Given the description of an element on the screen output the (x, y) to click on. 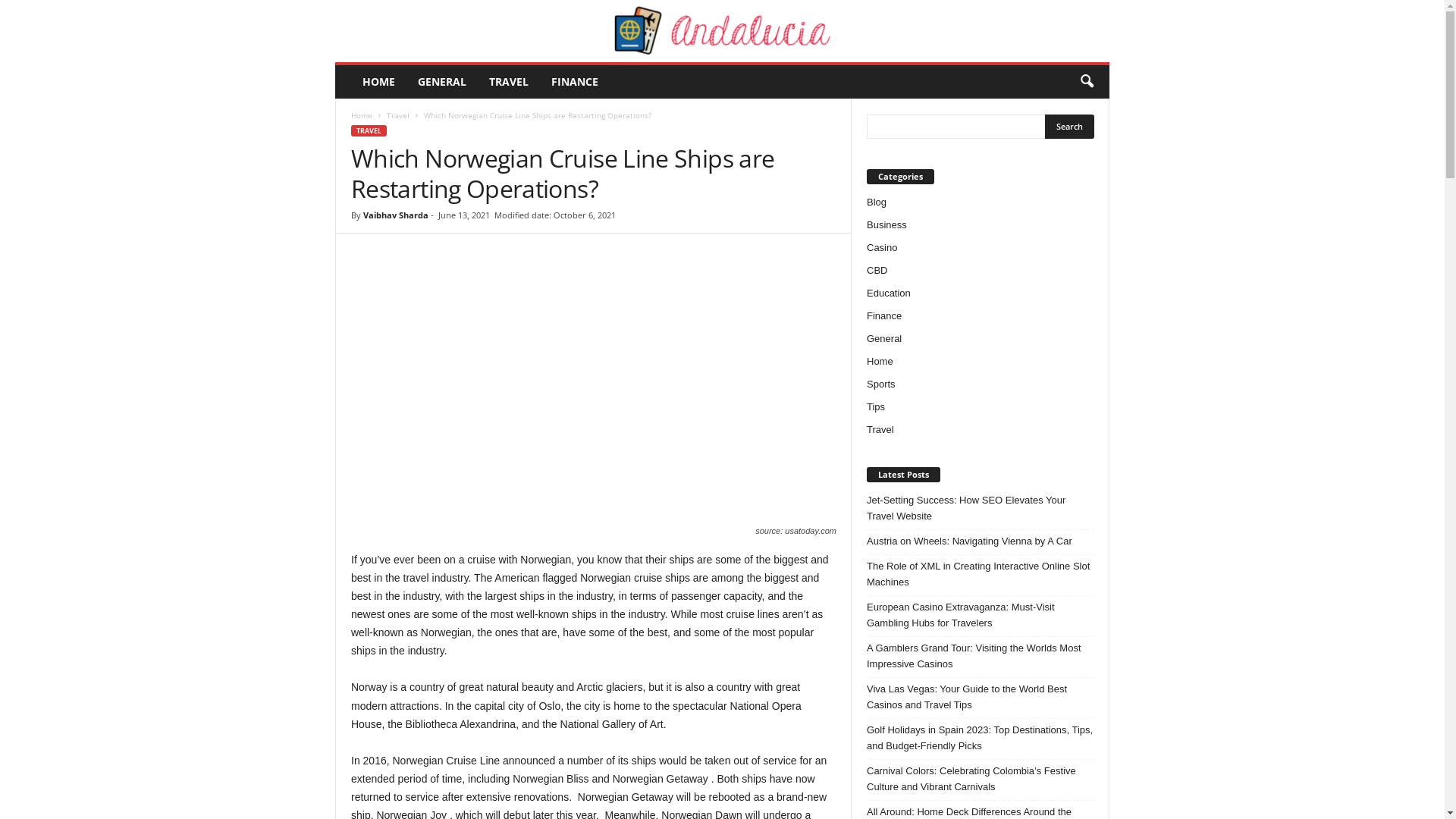
Home Element type: text (361, 114)
Vaibhav Sharda Element type: text (395, 214)
TRAVEL Element type: text (508, 81)
Travel Element type: text (880, 429)
General Element type: text (883, 338)
HOME Element type: text (378, 81)
FINANCE Element type: text (574, 81)
Finance Element type: text (883, 315)
GENERAL Element type: text (441, 81)
Search Element type: text (1069, 126)
CBD Element type: text (876, 270)
Business Element type: text (886, 224)
Jet-Setting Success: How SEO Elevates Your Travel Website Element type: text (980, 508)
Andalucia Element type: text (722, 31)
Home Element type: text (879, 361)
TRAVEL Element type: text (368, 130)
The Role of XML in Creating Interactive Online Slot Machines Element type: text (980, 573)
Casino Element type: text (881, 247)
Blog Element type: text (876, 201)
Sports Element type: text (880, 383)
Travel Element type: text (397, 114)
Tips Element type: text (875, 406)
Austria on Wheels: Navigating Vienna by A Car Element type: text (980, 541)
Education Element type: text (888, 292)
